Given the description of an element on the screen output the (x, y) to click on. 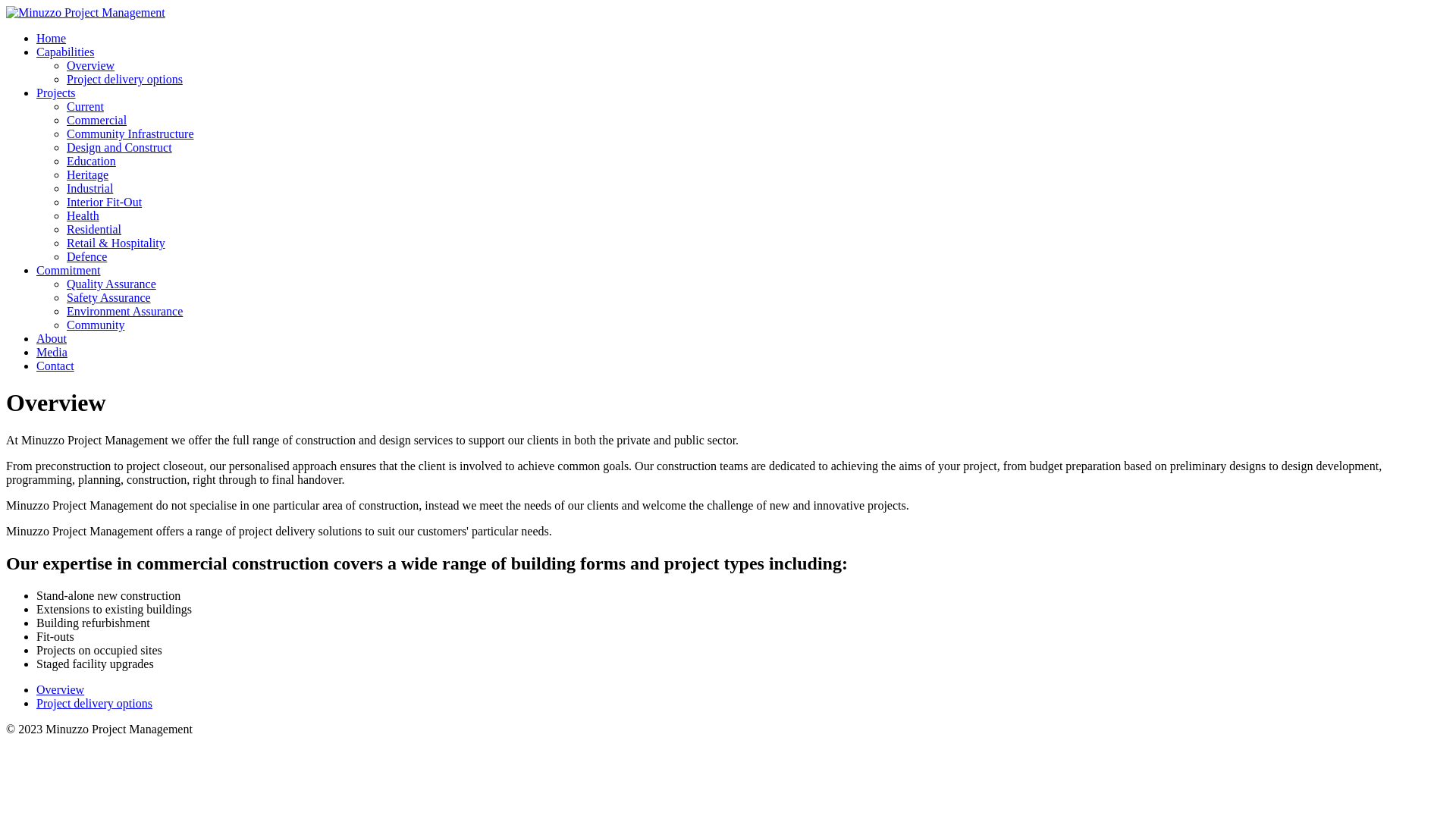
Heritage Element type: text (87, 174)
Residential Element type: text (93, 228)
Health Element type: text (82, 215)
Commitment Element type: text (68, 269)
Capabilities Element type: text (65, 51)
Community Infrastructure Element type: text (130, 133)
Education Element type: text (91, 160)
Industrial Element type: text (89, 188)
Project delivery options Element type: text (124, 78)
Current Element type: text (84, 106)
Overview Element type: text (90, 65)
Projects Element type: text (55, 92)
Interior Fit-Out Element type: text (103, 201)
About Element type: text (51, 338)
Home Element type: text (50, 37)
Media Element type: text (51, 351)
Environment Assurance Element type: text (124, 310)
Community Element type: text (95, 324)
Quality Assurance Element type: text (111, 283)
Retail & Hospitality Element type: text (115, 242)
Overview Element type: text (60, 689)
Commercial Element type: text (96, 119)
Project delivery options Element type: text (94, 702)
Design and Construct Element type: text (119, 147)
Contact Element type: text (55, 365)
Safety Assurance Element type: text (108, 297)
Defence Element type: text (86, 256)
